Given the description of an element on the screen output the (x, y) to click on. 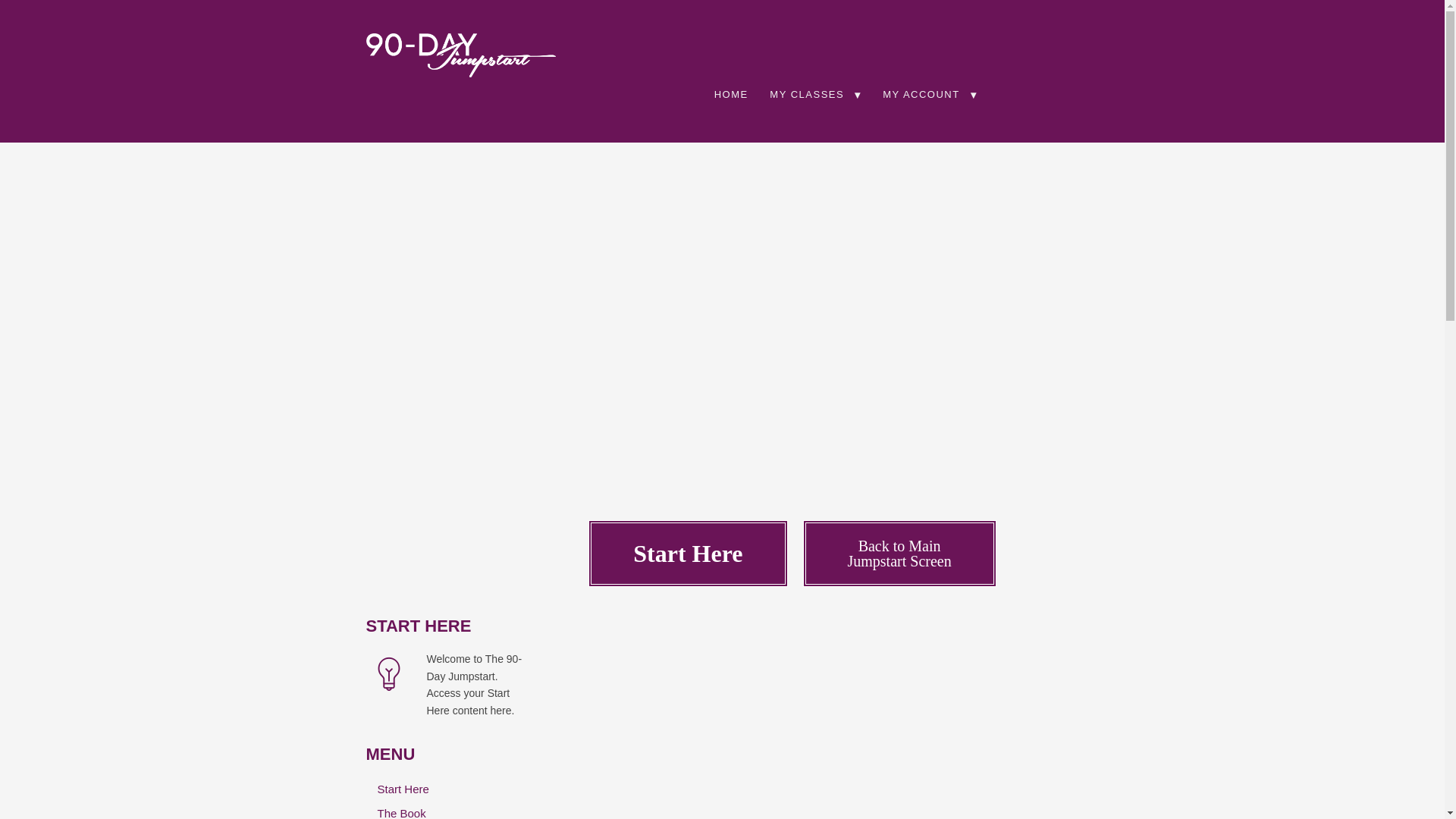
Start Here (448, 788)
HOME (730, 94)
Donna Partow International (459, 51)
MY CLASSES (815, 94)
The Book (448, 811)
MY ACCOUNT (930, 94)
Start Here (898, 553)
